Given the description of an element on the screen output the (x, y) to click on. 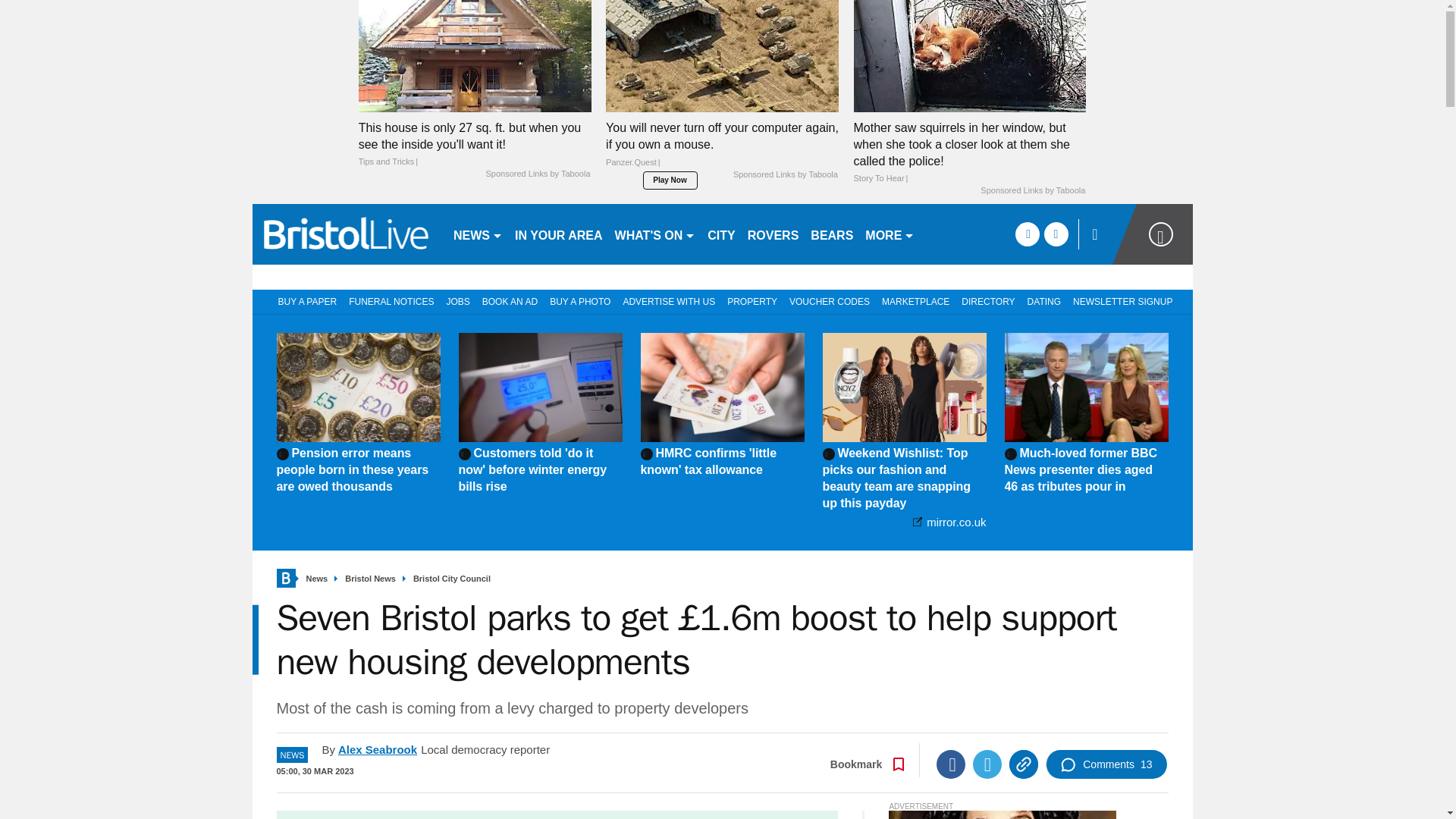
Twitter (986, 764)
bristolpost (345, 233)
Facebook (950, 764)
Play Now (670, 180)
twitter (1055, 233)
Sponsored Links by Taboola (1031, 190)
Sponsored Links by Taboola (785, 175)
IN YOUR AREA (558, 233)
Comments (1105, 764)
WHAT'S ON (654, 233)
